Given the description of an element on the screen output the (x, y) to click on. 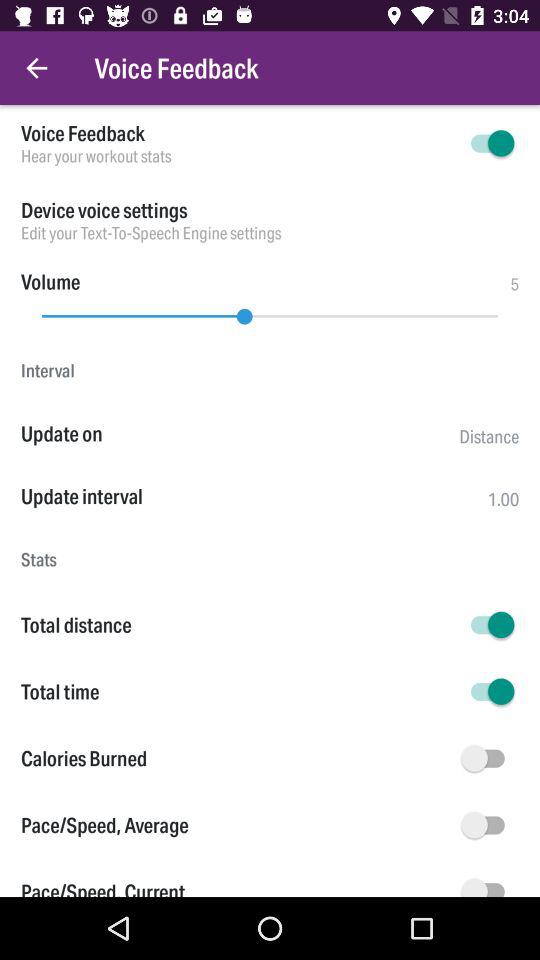
scroll until the total time item (238, 691)
